Given the description of an element on the screen output the (x, y) to click on. 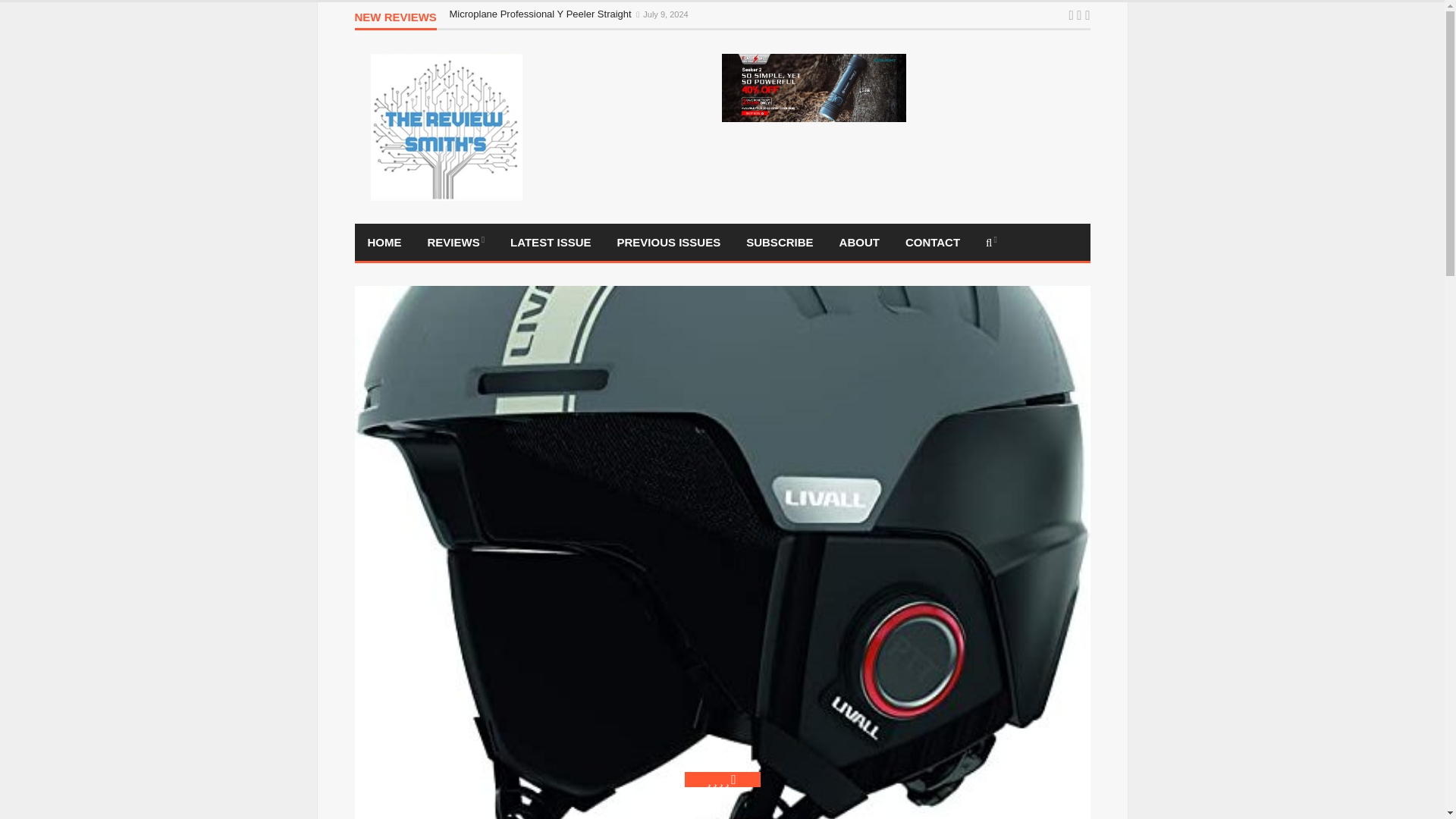
Reviews (455, 242)
Home (384, 242)
NEW REVIEWS (395, 20)
Microplane Professional Y Peeler Straight (540, 13)
Stance Stranger Things Box Crew Sock (536, 28)
